Given the description of an element on the screen output the (x, y) to click on. 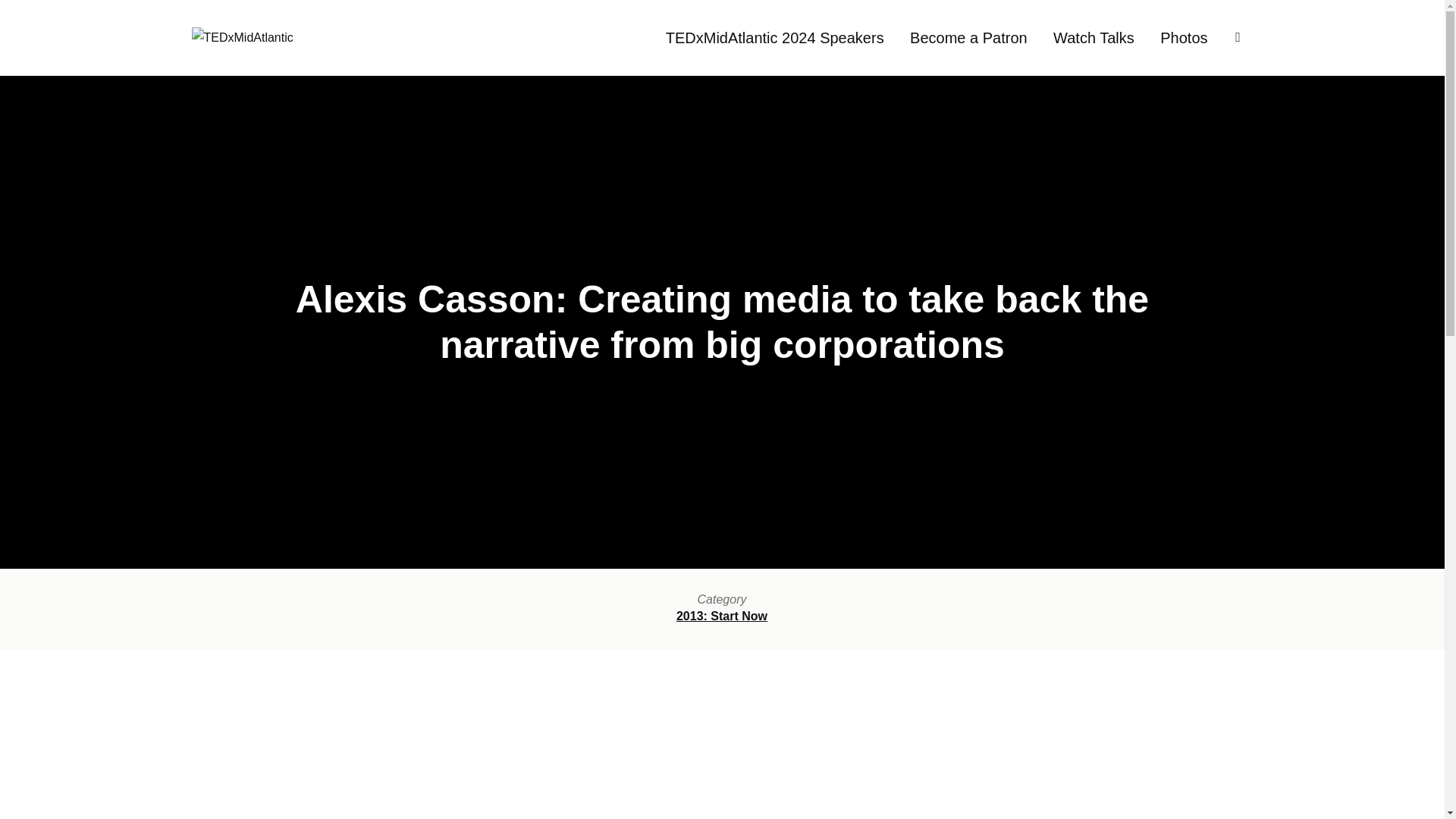
Become a Patron (968, 37)
Photos (1183, 37)
Watch Talks (1093, 37)
Search (15, 15)
2013: Start Now (722, 615)
TEDxMidAtlantic 2024 Speakers (774, 37)
